Given the description of an element on the screen output the (x, y) to click on. 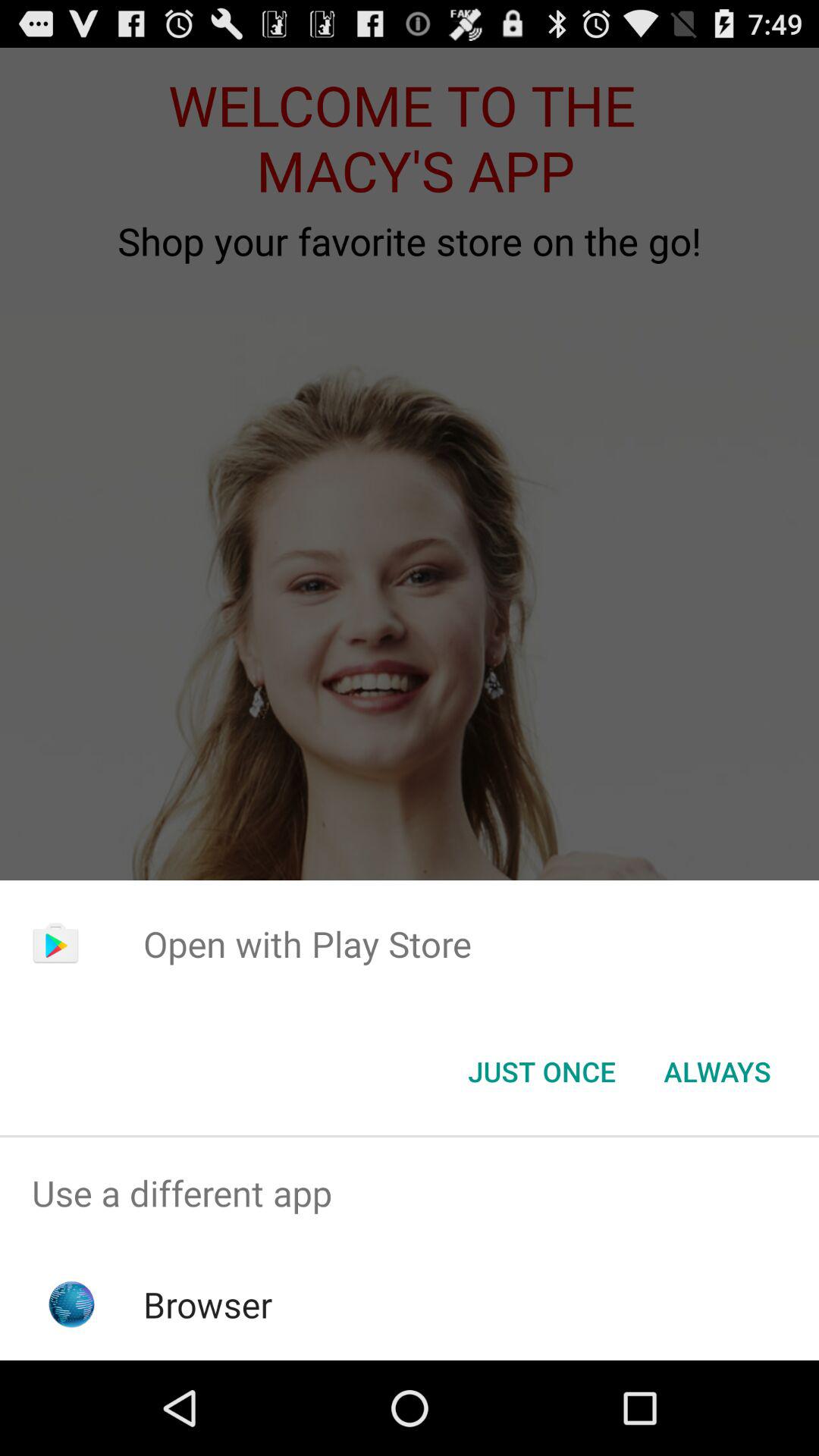
click the use a different icon (409, 1192)
